Given the description of an element on the screen output the (x, y) to click on. 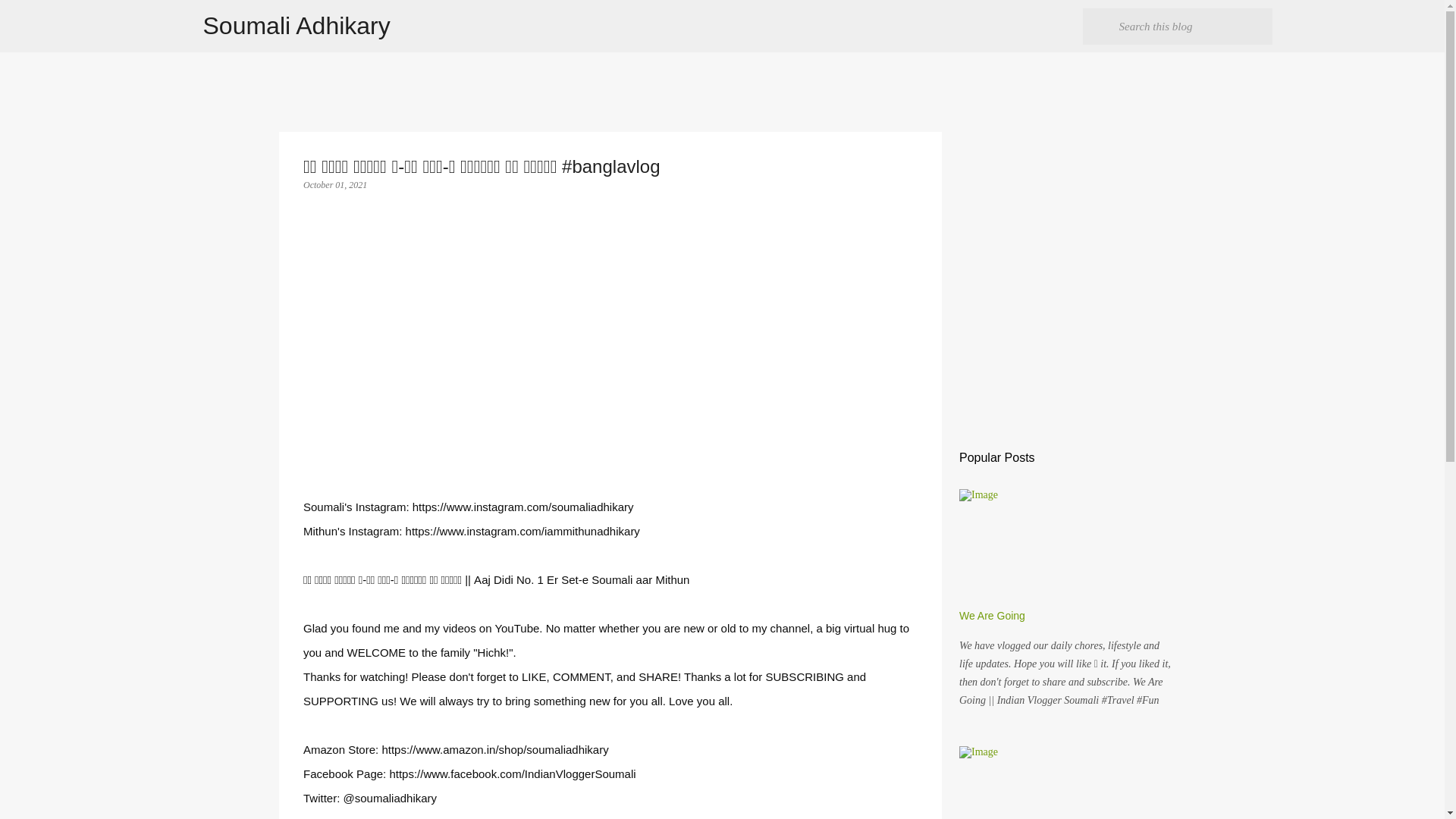
Soumali Adhikary (296, 25)
permanent link (334, 184)
We Are Going (992, 615)
October 01, 2021 (334, 184)
